Given the description of an element on the screen output the (x, y) to click on. 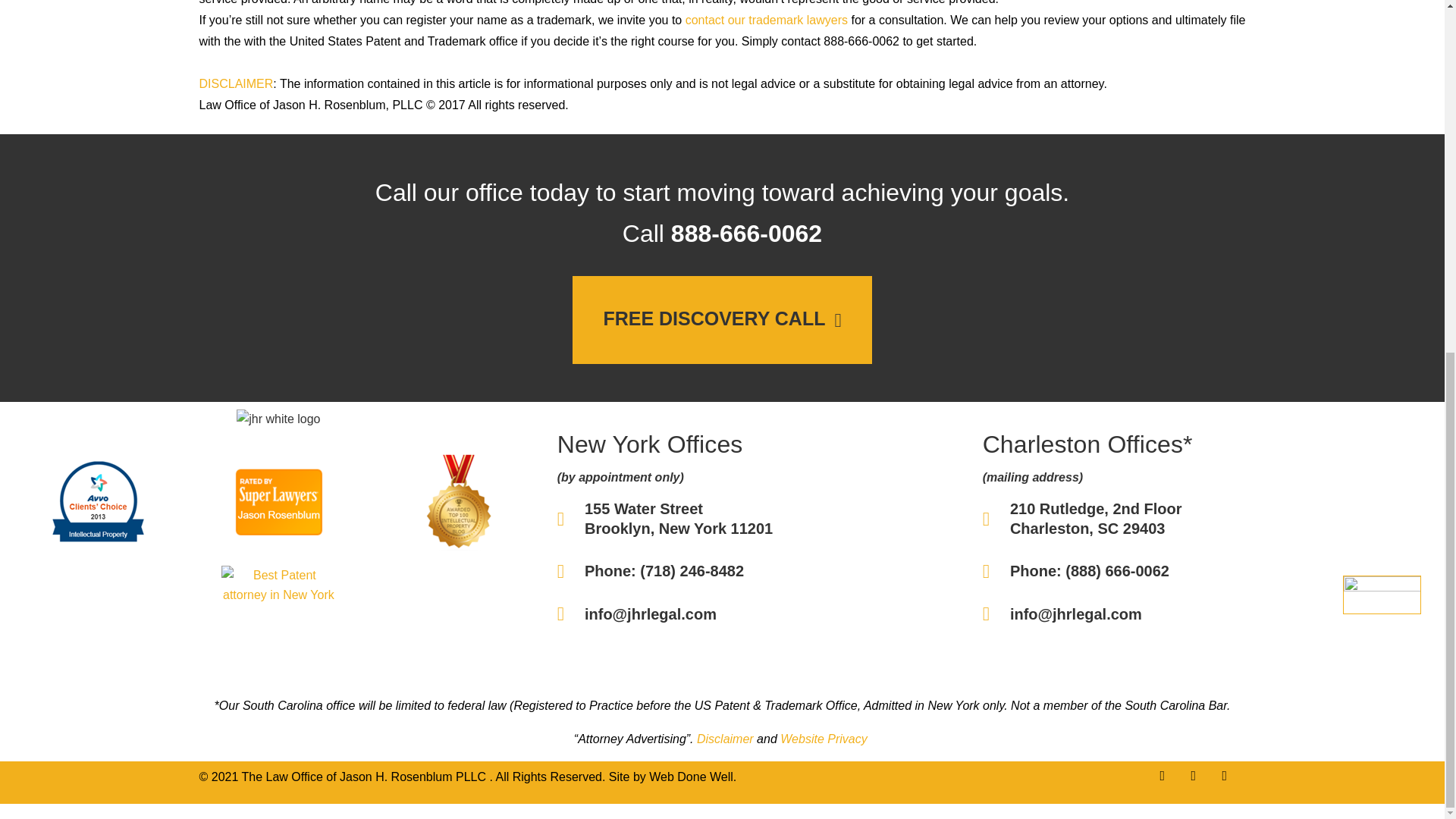
contact our trademark lawyers (766, 19)
jhr white logo (277, 419)
